Given the description of an element on the screen output the (x, y) to click on. 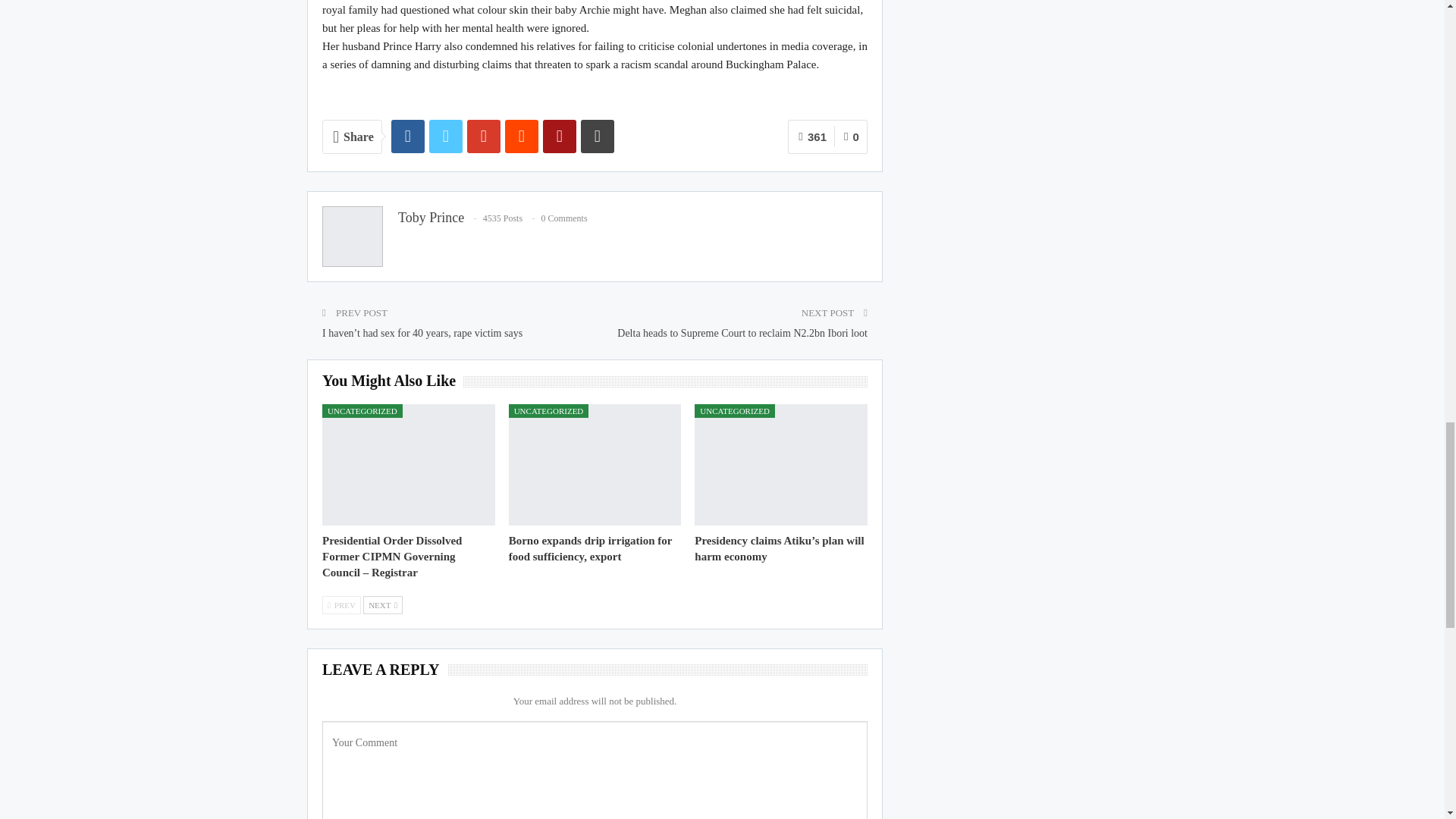
Borno expands drip irrigation for food sufficiency, export (594, 464)
Borno expands drip irrigation for food sufficiency, export (590, 548)
0 (850, 136)
Toby Prince (430, 217)
